Given the description of an element on the screen output the (x, y) to click on. 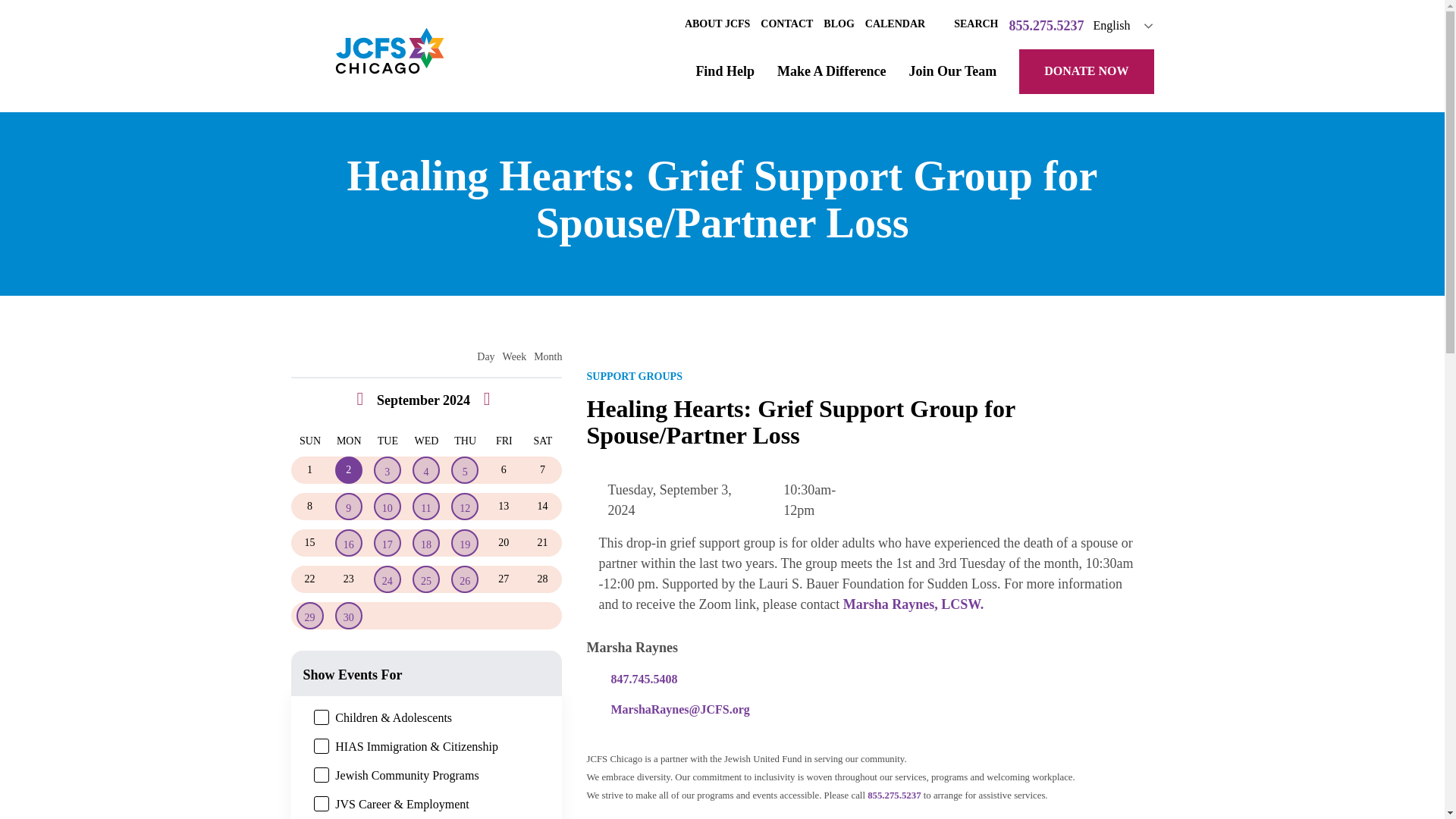
ABOUT JCFS (716, 23)
SEARCH (966, 23)
Home (389, 56)
CALENDAR (894, 23)
English (1130, 25)
Find Help (724, 70)
BLOG (838, 23)
855.275.5237 (1046, 25)
Make A Difference (831, 70)
